Given the description of an element on the screen output the (x, y) to click on. 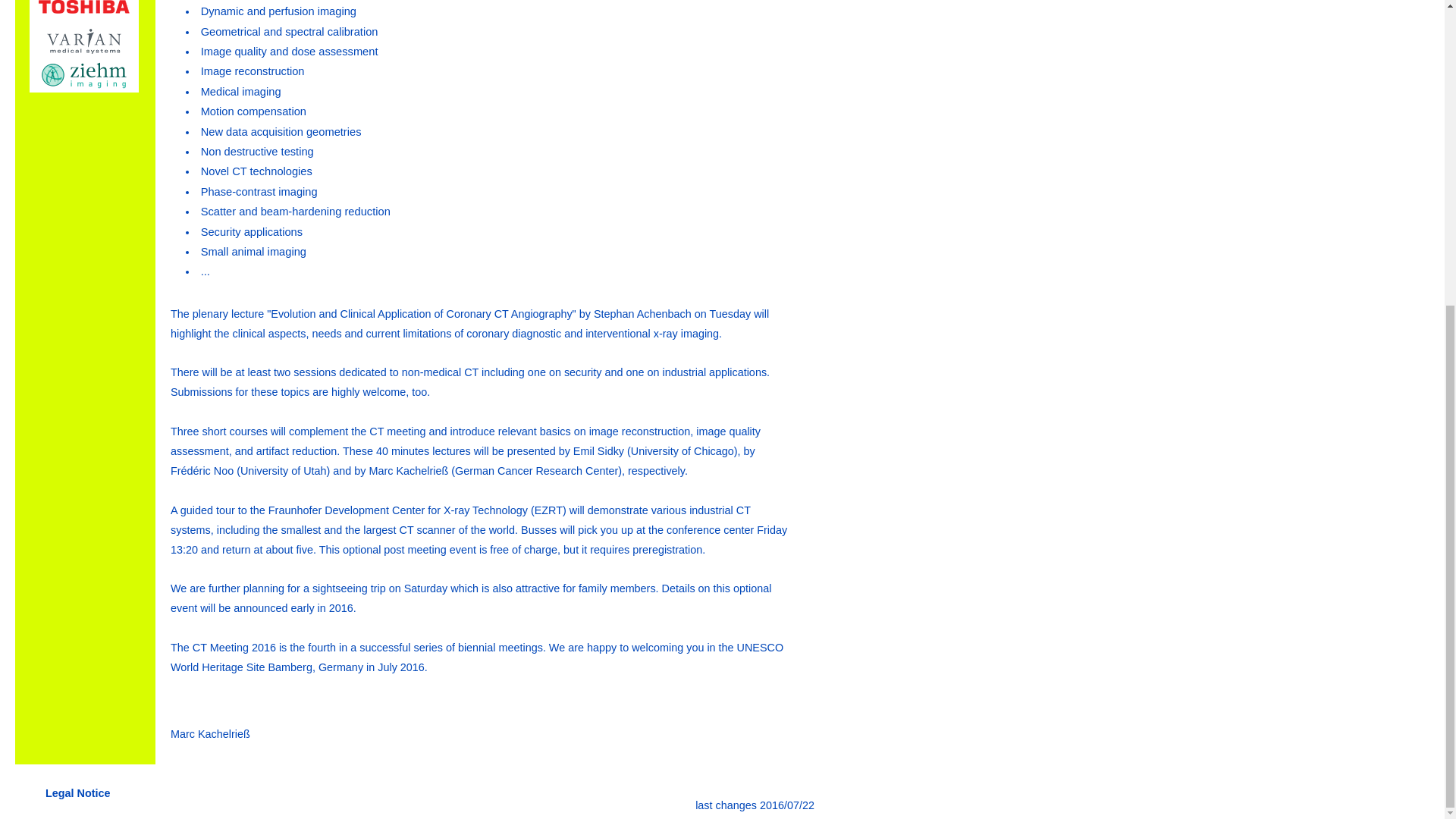
Toshiba Logo (84, 10)
Supplier Label and Disclaimer (77, 793)
Ziehm Logo (84, 75)
Varian Logo (84, 40)
Legal Notice (77, 793)
